Given the description of an element on the screen output the (x, y) to click on. 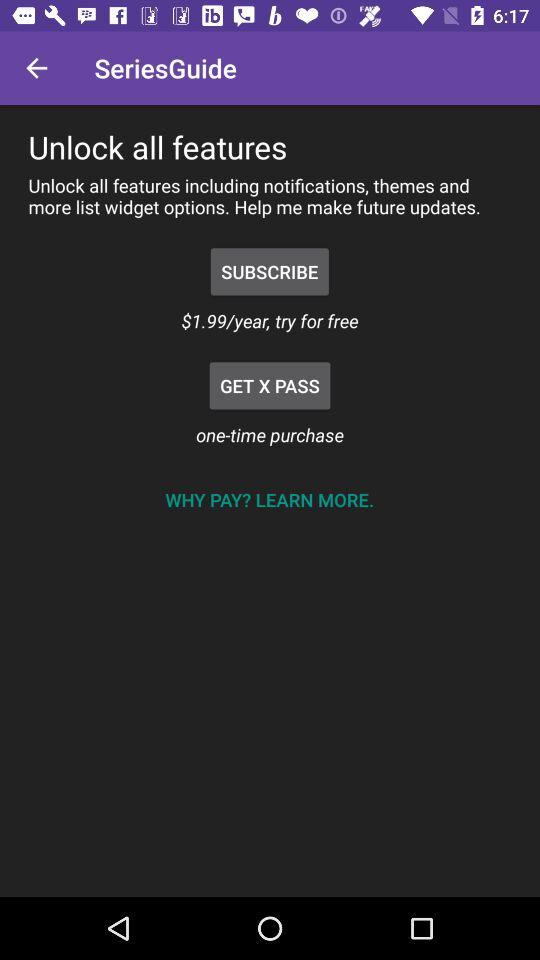
press the item above the unlock all features item (36, 68)
